Given the description of an element on the screen output the (x, y) to click on. 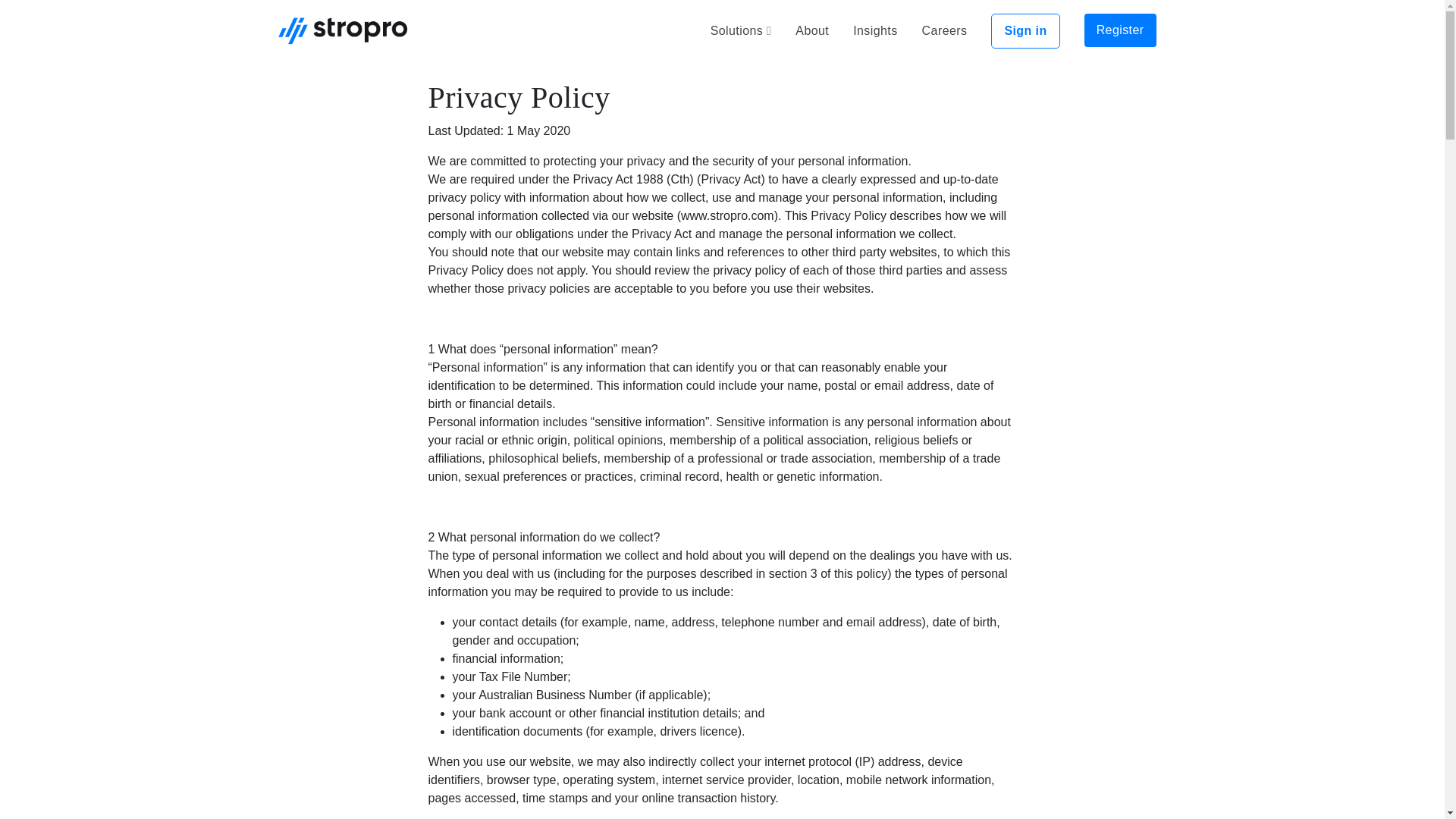
Sign in (1025, 30)
Insights (874, 30)
Careers (944, 30)
About (811, 30)
Solutions (740, 30)
Register (1120, 29)
